Given the description of an element on the screen output the (x, y) to click on. 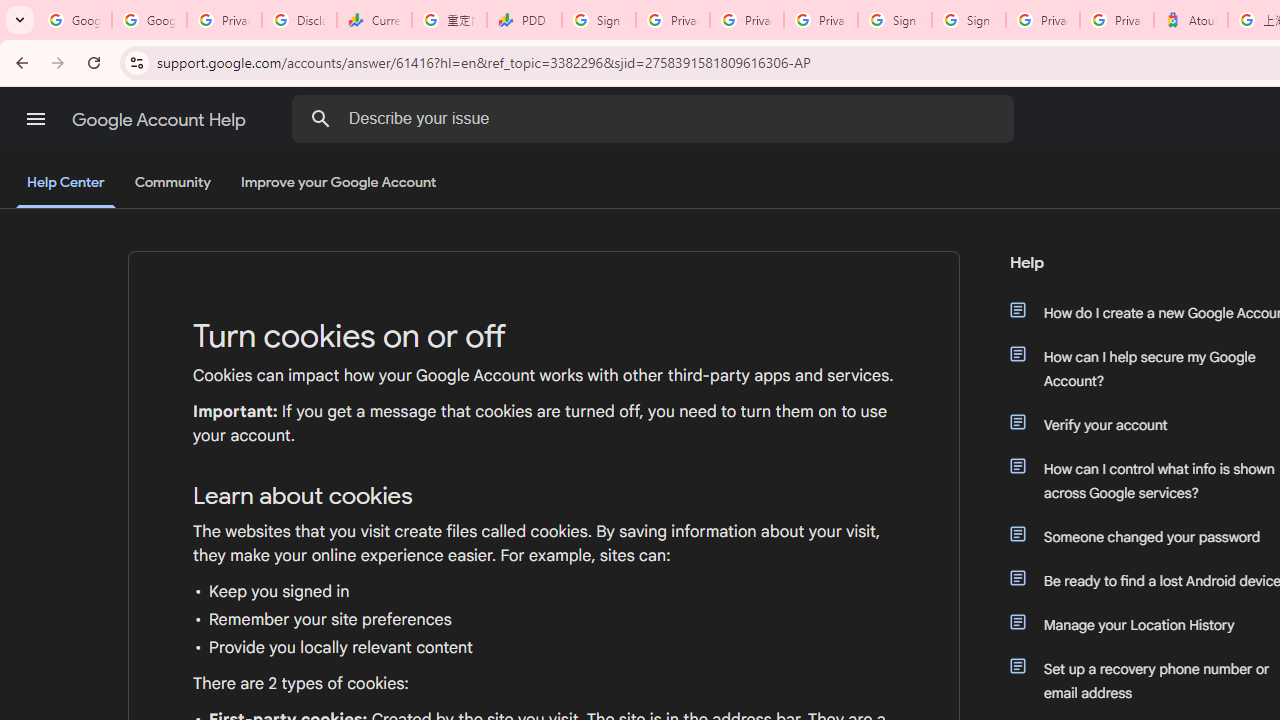
Main menu (35, 119)
Sign in - Google Accounts (894, 20)
Privacy Checkup (747, 20)
Atour Hotel - Google hotels (1190, 20)
Google Workspace Admin Community (74, 20)
Help Center (65, 183)
Search Help Center (320, 118)
